Given the description of an element on the screen output the (x, y) to click on. 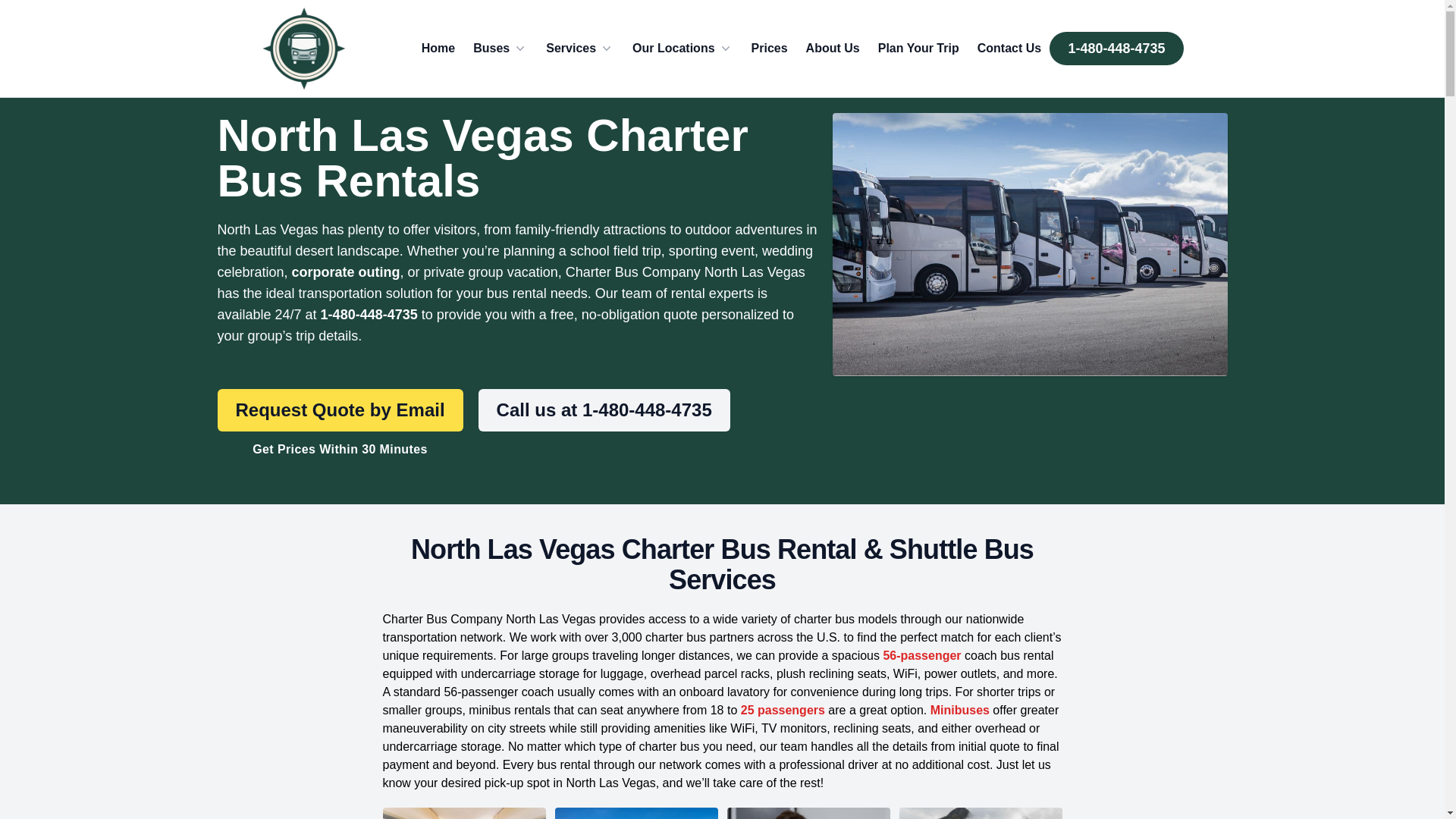
Home (438, 48)
Charter Bus Company Reno, (303, 48)
Prices (769, 48)
Contact Us (1008, 48)
Our Locations (681, 48)
1-480-448-4735 (1115, 48)
Plan Your Trip (918, 48)
About Us (833, 48)
Services (580, 48)
Buses (500, 48)
